Given the description of an element on the screen output the (x, y) to click on. 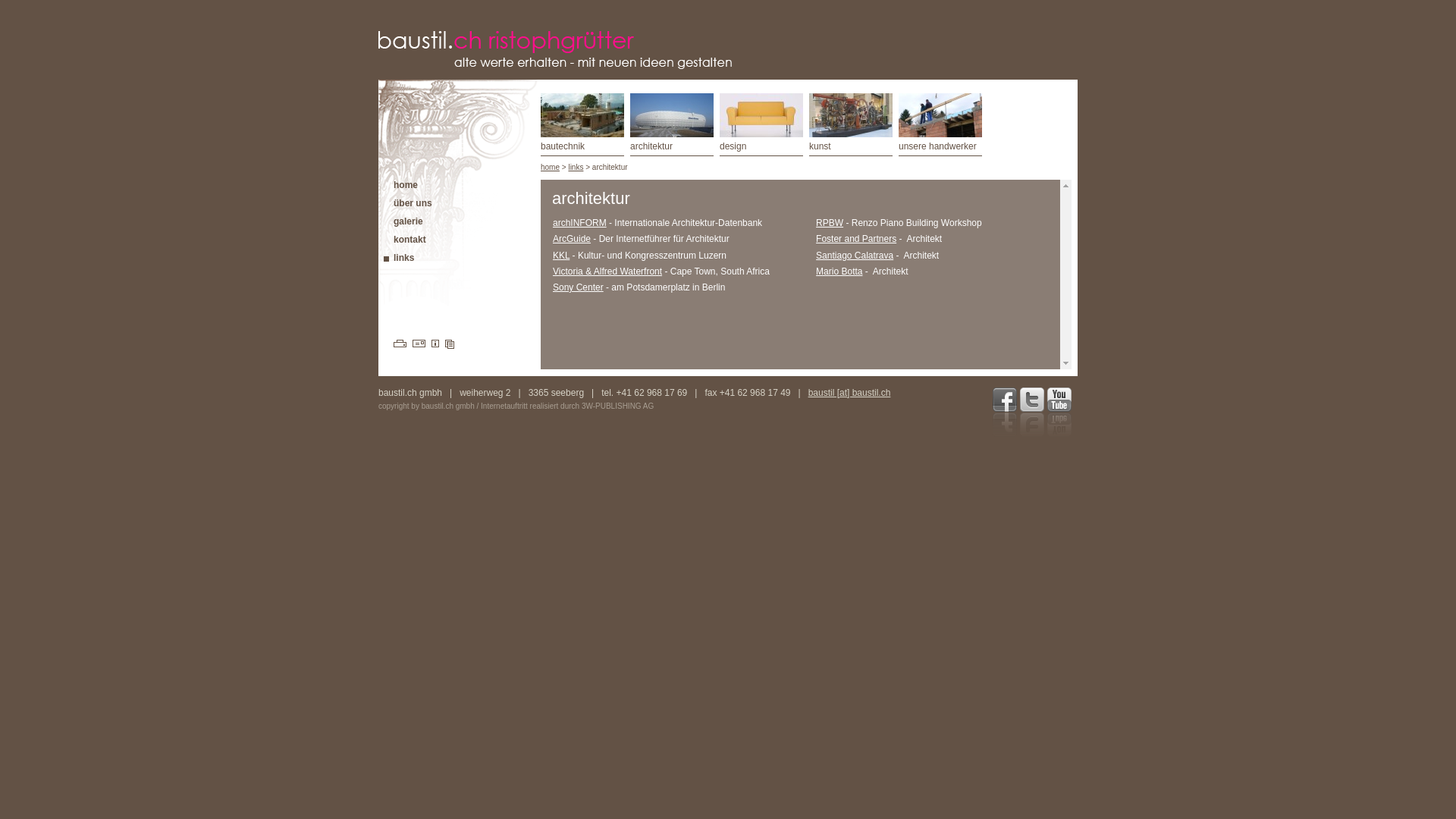
architektur Element type: text (671, 124)
RPBW Element type: text (829, 222)
kontakt Element type: text (402, 239)
Sony Center Element type: text (577, 287)
design Element type: text (761, 124)
ArcGuide Element type: text (571, 238)
Impressum Element type: hover (435, 344)
links Element type: text (575, 167)
Mario Botta Element type: text (838, 271)
Youtube Element type: text (1059, 411)
links Element type: text (396, 257)
Sitemap Element type: hover (449, 344)
Twitter Element type: text (1031, 411)
Victoria & Alfred Waterfront Element type: text (607, 271)
baustil [at] baustil.ch Element type: text (849, 392)
bautechnik Element type: text (582, 124)
galerie Element type: text (400, 221)
unsere handwerker Element type: text (940, 124)
home Element type: text (397, 184)
Facebook Element type: text (1004, 411)
archINFORM Element type: text (579, 222)
Foster and Partners Element type: text (855, 238)
drucken Element type: hover (393, 344)
home Element type: text (549, 167)
Seite empfehlen Element type: hover (418, 344)
kunst Element type: text (850, 124)
KKL Element type: text (560, 255)
Santiago Calatrava Element type: text (854, 255)
